Given the description of an element on the screen output the (x, y) to click on. 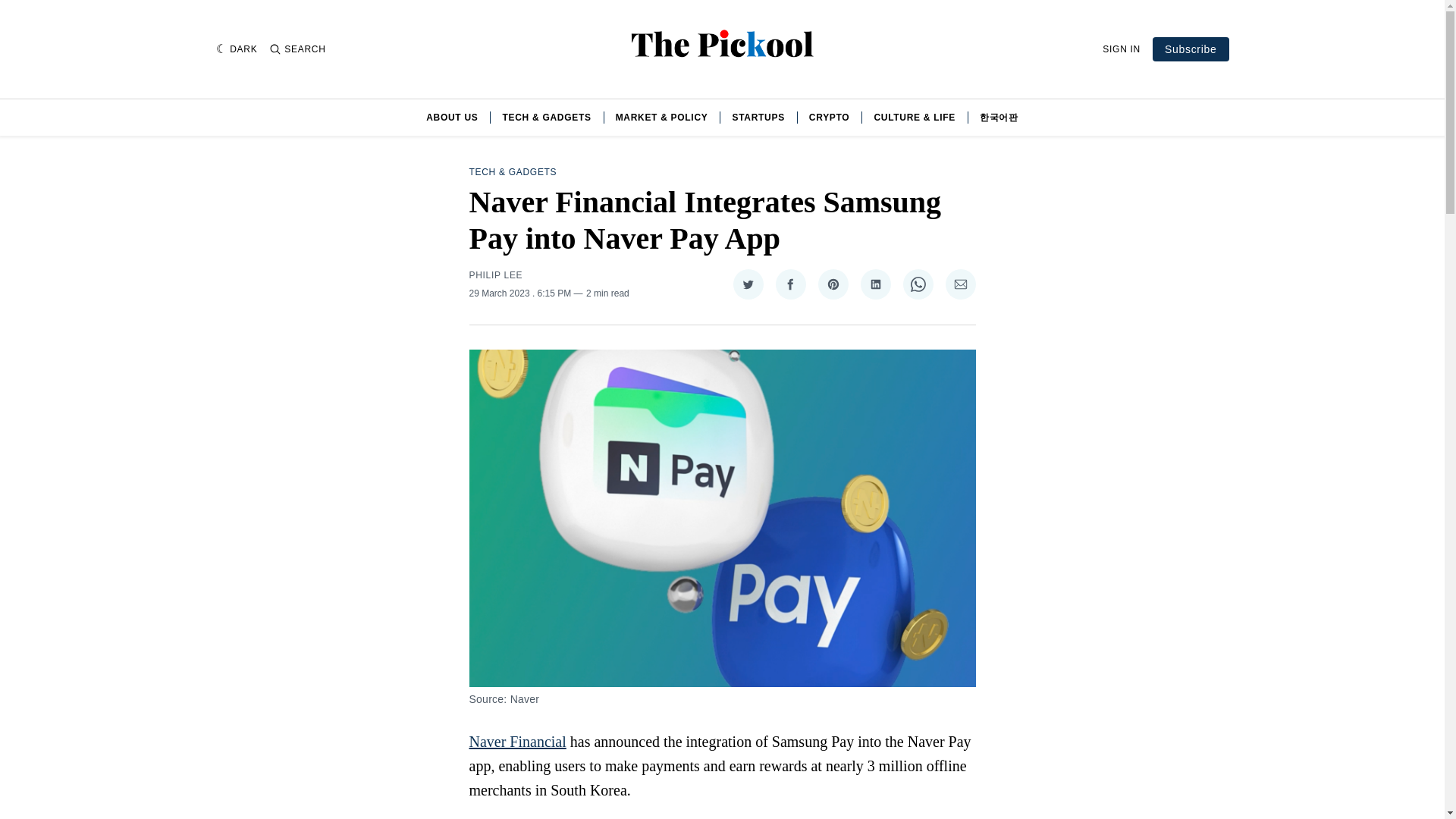
SEARCH (296, 49)
Share on WhatsApp (917, 284)
Naver Financial (517, 741)
DARK (236, 48)
CRYPTO (829, 117)
SIGN IN (1121, 49)
STARTUPS (758, 117)
Share via Email (959, 284)
ABOUT US (451, 117)
Share on Twitter (747, 284)
Share on LinkedIn (874, 284)
Share on Facebook (789, 284)
Subscribe (1190, 48)
PHILIP LEE (495, 275)
Share on Pinterest (831, 284)
